Given the description of an element on the screen output the (x, y) to click on. 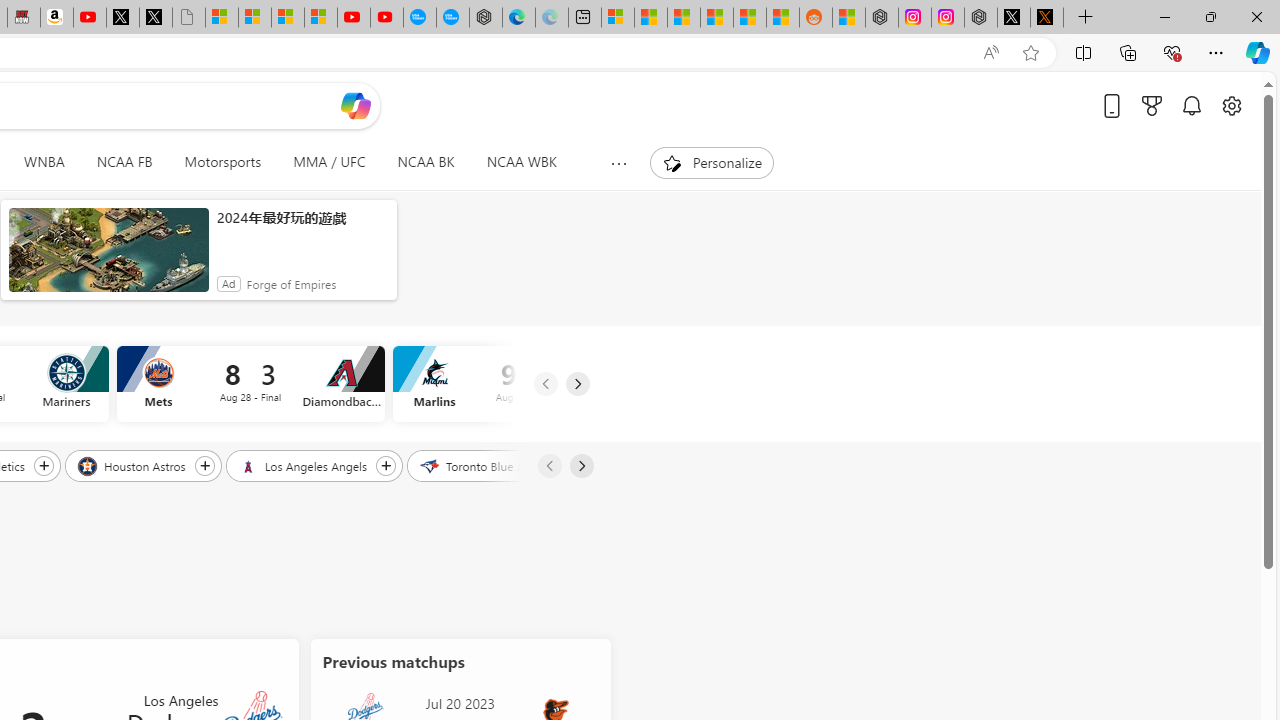
Mets 8 vs Diamondbacks 3Final Date Aug 28 (250, 383)
Motorsports (222, 162)
Motorsports (223, 162)
Nordace - Summer Adventures 2024 (981, 17)
Shanghai, China hourly forecast | Microsoft Weather (684, 17)
NCAA BK (425, 162)
Personalize (711, 162)
NCAA WBK (521, 162)
Shanghai, China Weather trends | Microsoft Weather (782, 17)
